Given the description of an element on the screen output the (x, y) to click on. 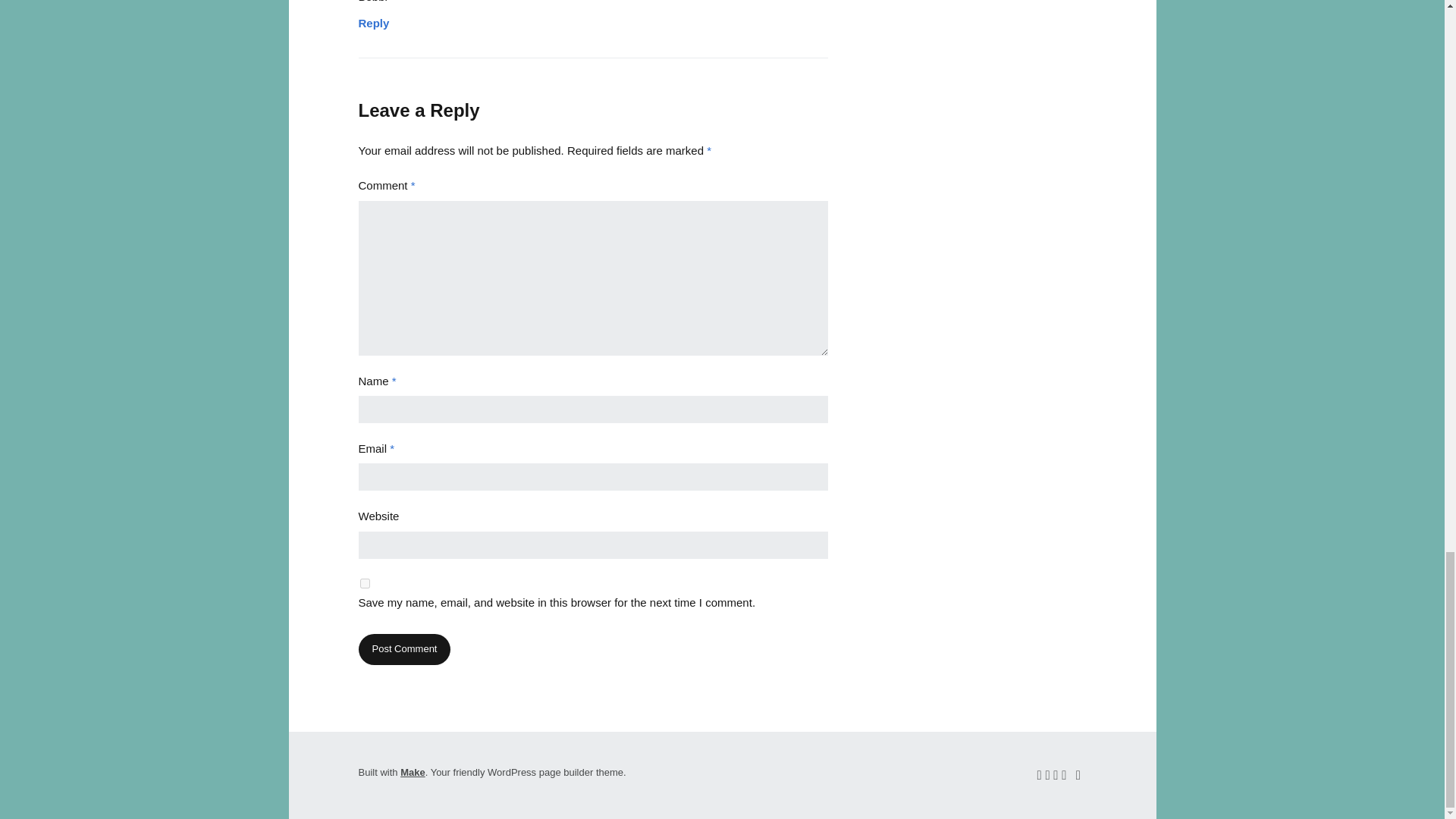
Post Comment (403, 649)
Reply (373, 18)
Post Comment (403, 649)
yes (364, 583)
